Given the description of an element on the screen output the (x, y) to click on. 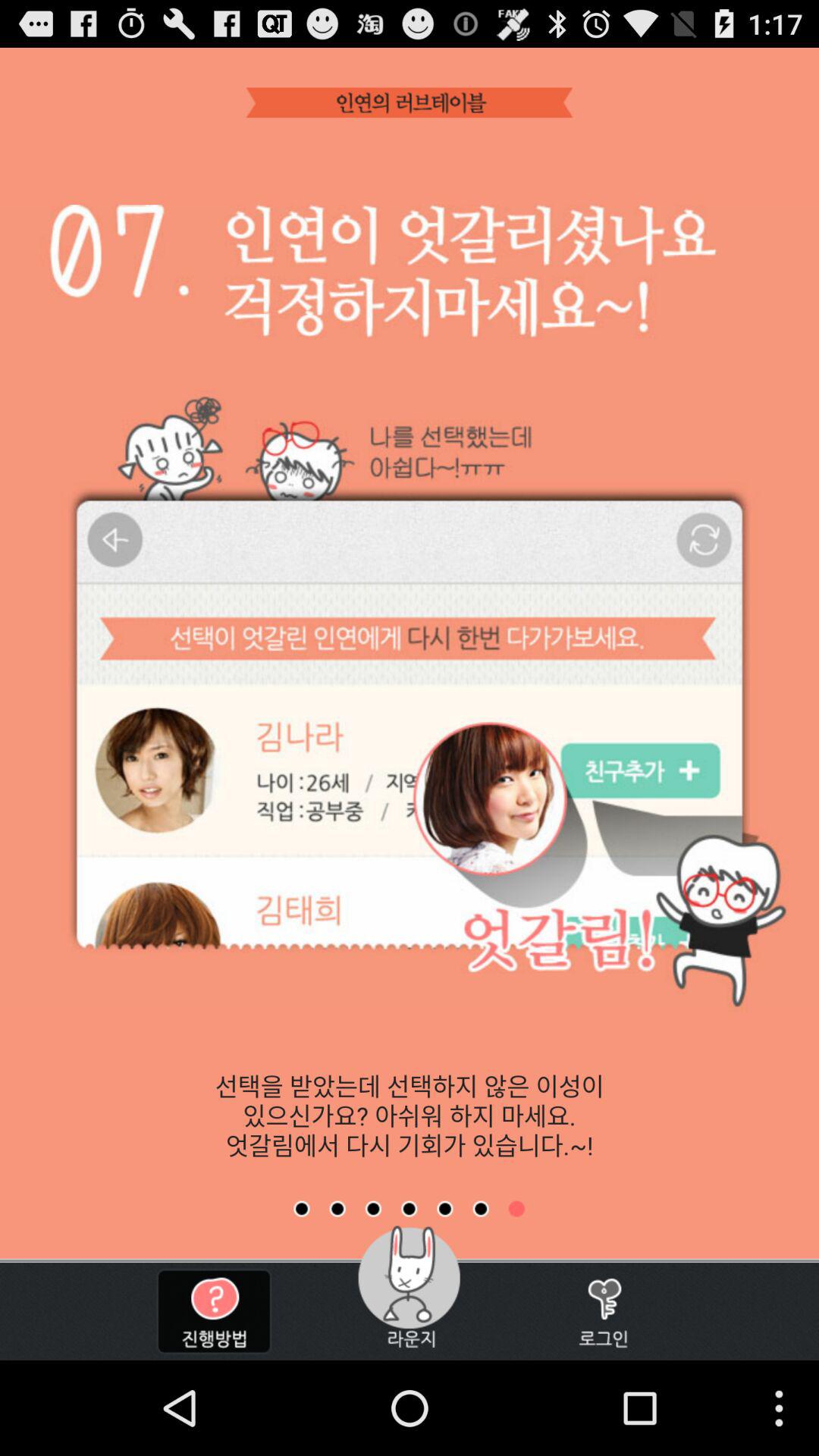
go to next page (373, 1208)
